Given the description of an element on the screen output the (x, y) to click on. 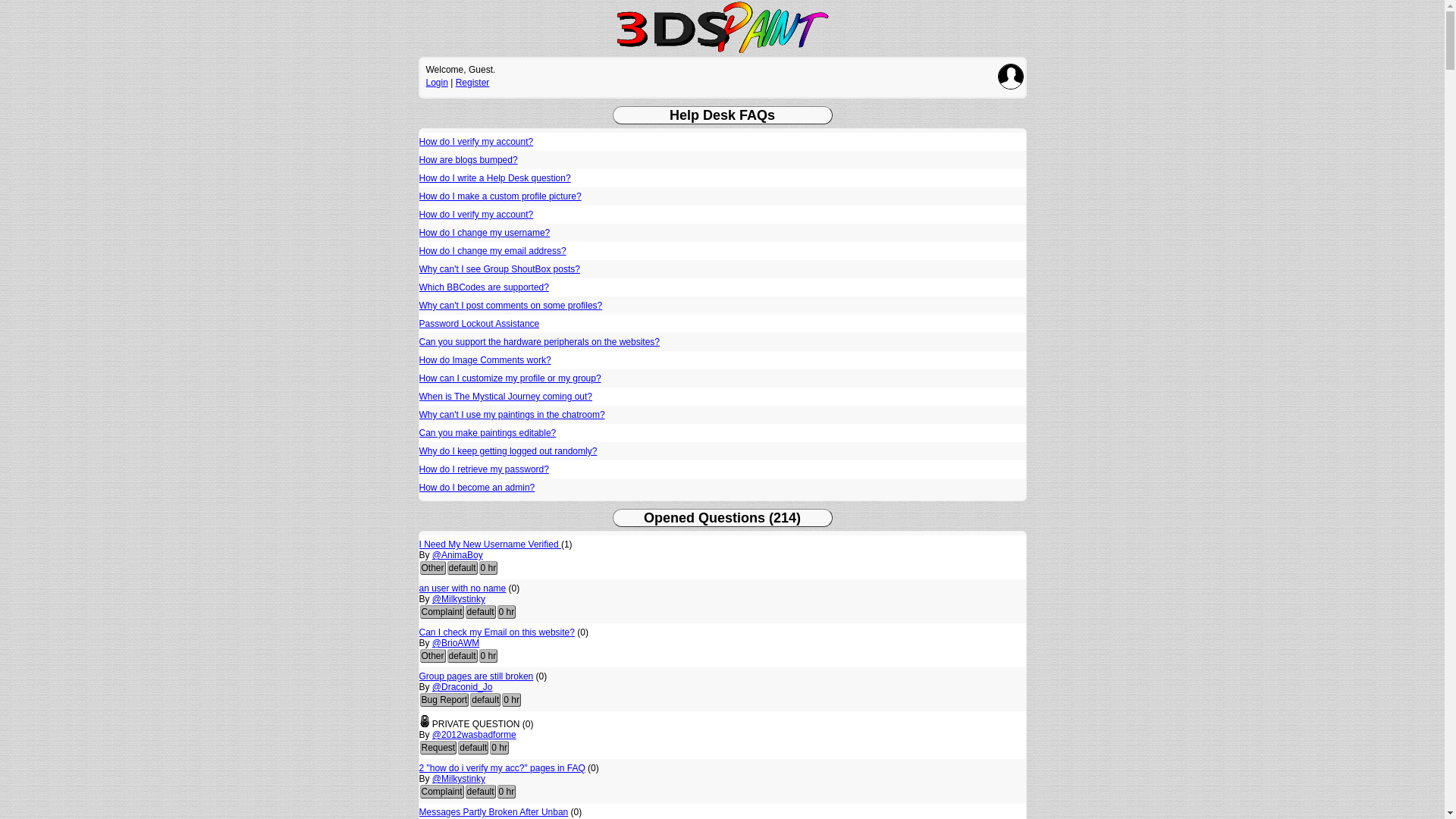
Register Element type: text (472, 82)
@BrioAWM Element type: text (455, 642)
Can you support the hardware peripherals on the websites? Element type: text (538, 341)
How do Image Comments work? Element type: text (484, 359)
How do I make a custom profile picture? Element type: text (499, 196)
@AnimaBoy Element type: text (457, 554)
Can you make paintings editable? Element type: text (486, 432)
@Milkystinky Element type: text (458, 598)
How can I customize my profile or my group? Element type: text (509, 378)
How do I verify my account? Element type: text (475, 214)
Which BBCodes are supported? Element type: text (483, 287)
How do I become an admin? Element type: text (476, 487)
When is The Mystical Journey coming out? Element type: text (505, 396)
Password Lockout Assistance Element type: text (478, 323)
How do I retrieve my password? Element type: text (483, 469)
How do I write a Help Desk question? Element type: text (494, 177)
Why can't I see Group ShoutBox posts? Element type: text (498, 268)
Login Element type: text (437, 82)
How do I verify my account? Element type: text (475, 141)
@Draconid_Jo Element type: text (462, 686)
Can I check my Email on this website? Element type: text (496, 632)
Why can't I use my paintings in the chatroom? Element type: text (511, 414)
I Need My New Username Verified Element type: text (489, 544)
How do I change my email address? Element type: text (491, 250)
Login Element type: hover (1010, 76)
Messages Partly Broken After Unban Element type: text (492, 811)
Why do I keep getting logged out randomly? Element type: text (507, 450)
@Milkystinky Element type: text (458, 778)
How do I change my username? Element type: text (483, 232)
Why can't I post comments on some profiles? Element type: text (510, 305)
an user with no name Element type: text (461, 588)
2 "how do i verify my acc?" pages in FAQ Element type: text (501, 767)
Group pages are still broken Element type: text (475, 676)
How are blogs bumped? Element type: text (467, 159)
@2012wasbadforme Element type: text (474, 734)
